Given the description of an element on the screen output the (x, y) to click on. 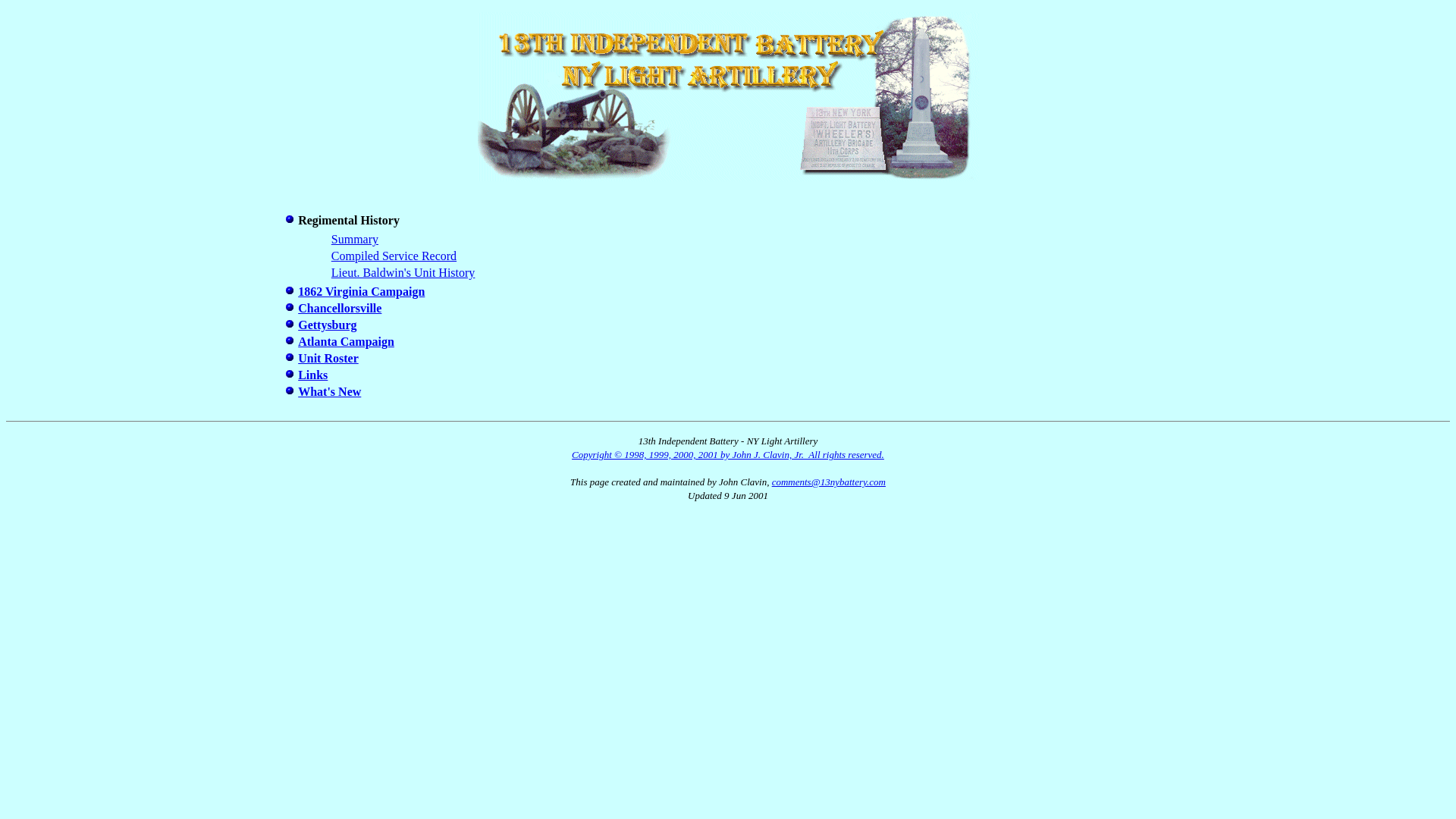
1862 Virginia Campaign Element type: text (361, 291)
Lieut. Baldwin's Unit History Element type: text (403, 272)
Summary Element type: text (354, 238)
Links Element type: text (312, 374)
Chancellorsville Element type: text (339, 307)
What's New Element type: text (329, 391)
Compiled Service Record Element type: text (393, 255)
Atlanta Campaign Element type: text (346, 341)
Unit Roster Element type: text (328, 357)
Gettysburg Element type: text (327, 324)
comments@13nybattery.com Element type: text (828, 481)
